Given the description of an element on the screen output the (x, y) to click on. 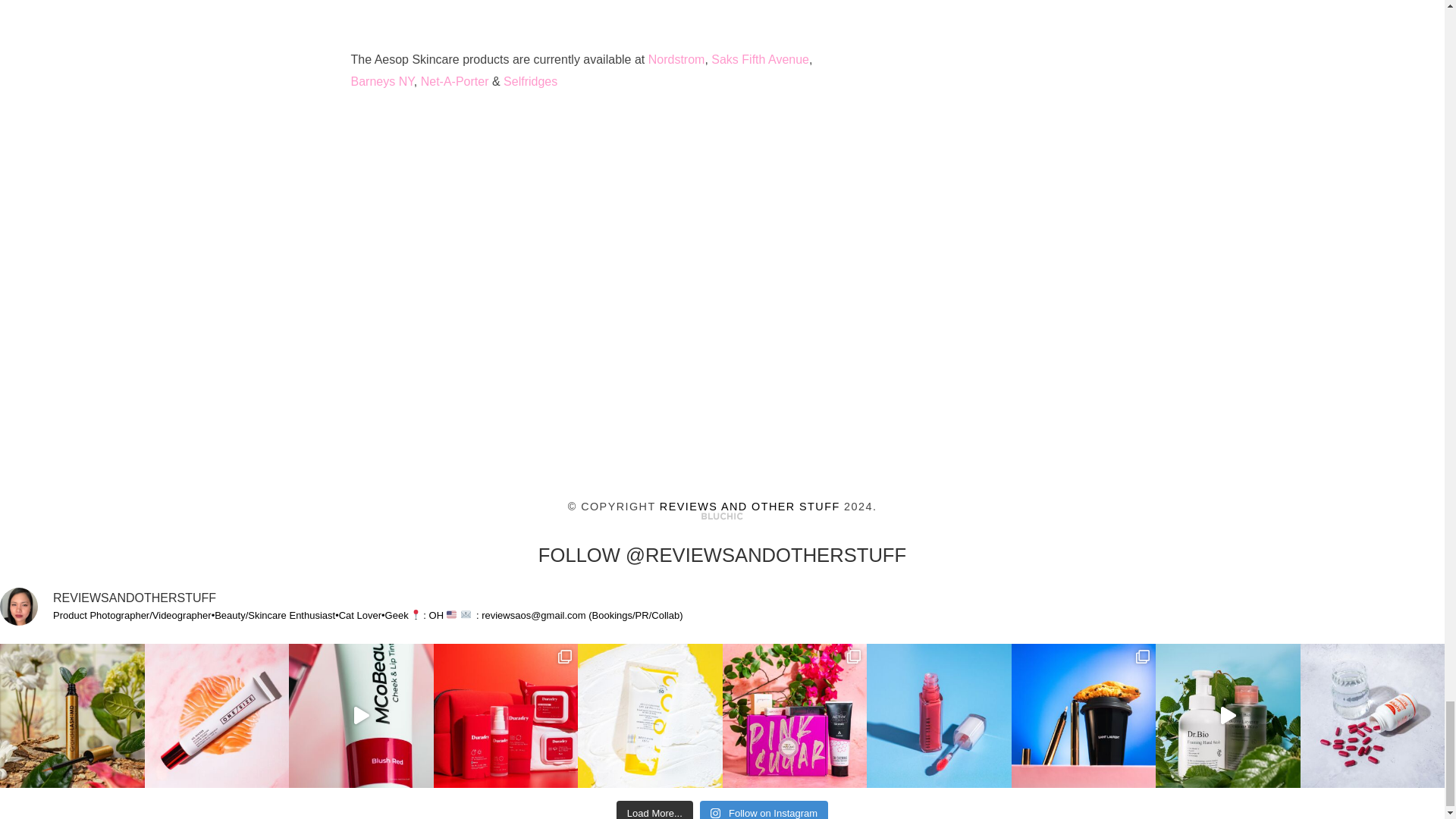
Barneys NY (381, 81)
Saks Fifth Avenue (760, 59)
Nordstrom (675, 59)
Theme by Bluchic (721, 516)
